Given the description of an element on the screen output the (x, y) to click on. 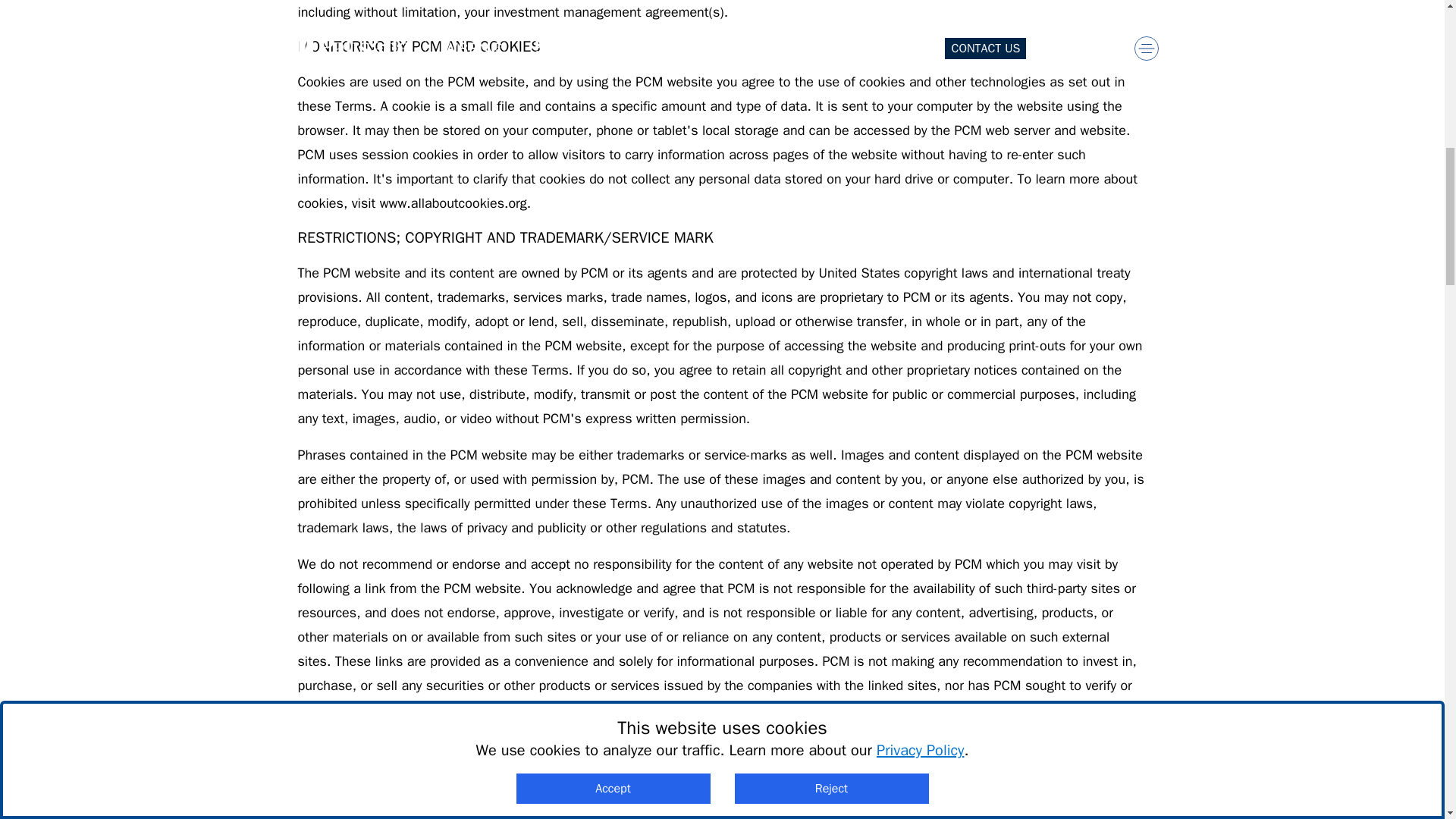
www.allaboutcookies.org (453, 202)
